Given the description of an element on the screen output the (x, y) to click on. 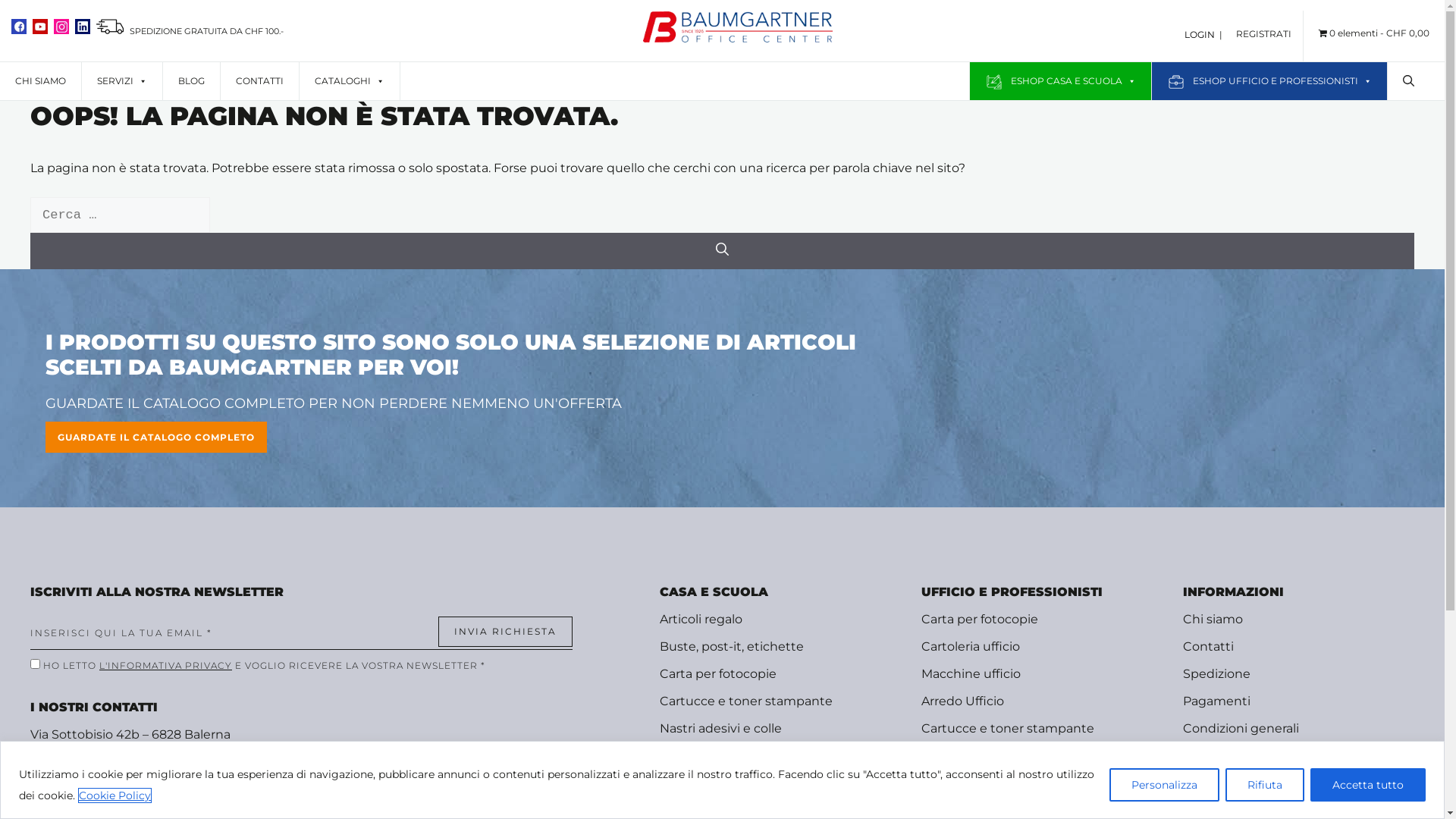
Carta per fotocopie Element type: text (979, 618)
Macchine ufficio Element type: text (970, 673)
Invia richiesta Element type: text (505, 631)
ESHOP UFFICIO E PROFESSIONISTI Element type: text (1268, 81)
BLOG Element type: text (191, 81)
Privacy Element type: text (1204, 755)
GUARDATE IL CATALOGO COMPLETO Element type: text (155, 436)
Arredo Ufficio Element type: text (962, 700)
ESHOP CASA E SCUOLA Element type: text (1060, 81)
Spedizione Element type: text (1216, 673)
Piccola cancelleria Element type: text (714, 782)
Cookie Element type: text (1204, 782)
Accetta tutto Element type: text (1367, 783)
Chi siamo Element type: text (1212, 618)
CATALOGHI Element type: text (349, 81)
SERVIZI Element type: text (121, 81)
Rifiuta Element type: text (1264, 783)
Shop Baumgartner Element type: hover (737, 28)
 SPEDIZIONE GRATUITA DA CHF 100.- Element type: text (189, 30)
Carta per fotocopie Element type: text (717, 673)
shop@baumgartnersa.ch Element type: text (107, 794)
L'INFORMATIVA PRIVACY Element type: text (165, 665)
Ricerca per: Element type: hover (120, 215)
+41 091 682 65 36 Element type: text (103, 755)
Buste, post-it, etichette Element type: text (731, 646)
Quaderni, agende e block notes Element type: text (756, 810)
Personalizza Element type: text (1164, 783)
Nastri adesivi e colle Element type: text (720, 728)
Cartoleria ufficio Element type: text (970, 646)
Shop Baumgartner Element type: hover (737, 37)
LOGIN Element type: text (1199, 34)
CONTATTI Element type: text (259, 81)
Cartucce e toner stampante Element type: text (745, 700)
Pagamenti Element type: text (1216, 700)
0 elementiCHF 0,00 Element type: text (1373, 32)
Cartucce e toner stampante Element type: text (1007, 728)
Condizioni generali Element type: text (1241, 728)
Articoli regalo Element type: text (700, 618)
Cookie Policy Element type: text (114, 794)
REGISTRATI Element type: text (1269, 25)
Contatti Element type: text (1208, 646)
Penne, pennarelli e matite Element type: text (739, 755)
CHI SIAMO Element type: text (40, 81)
